Given the description of an element on the screen output the (x, y) to click on. 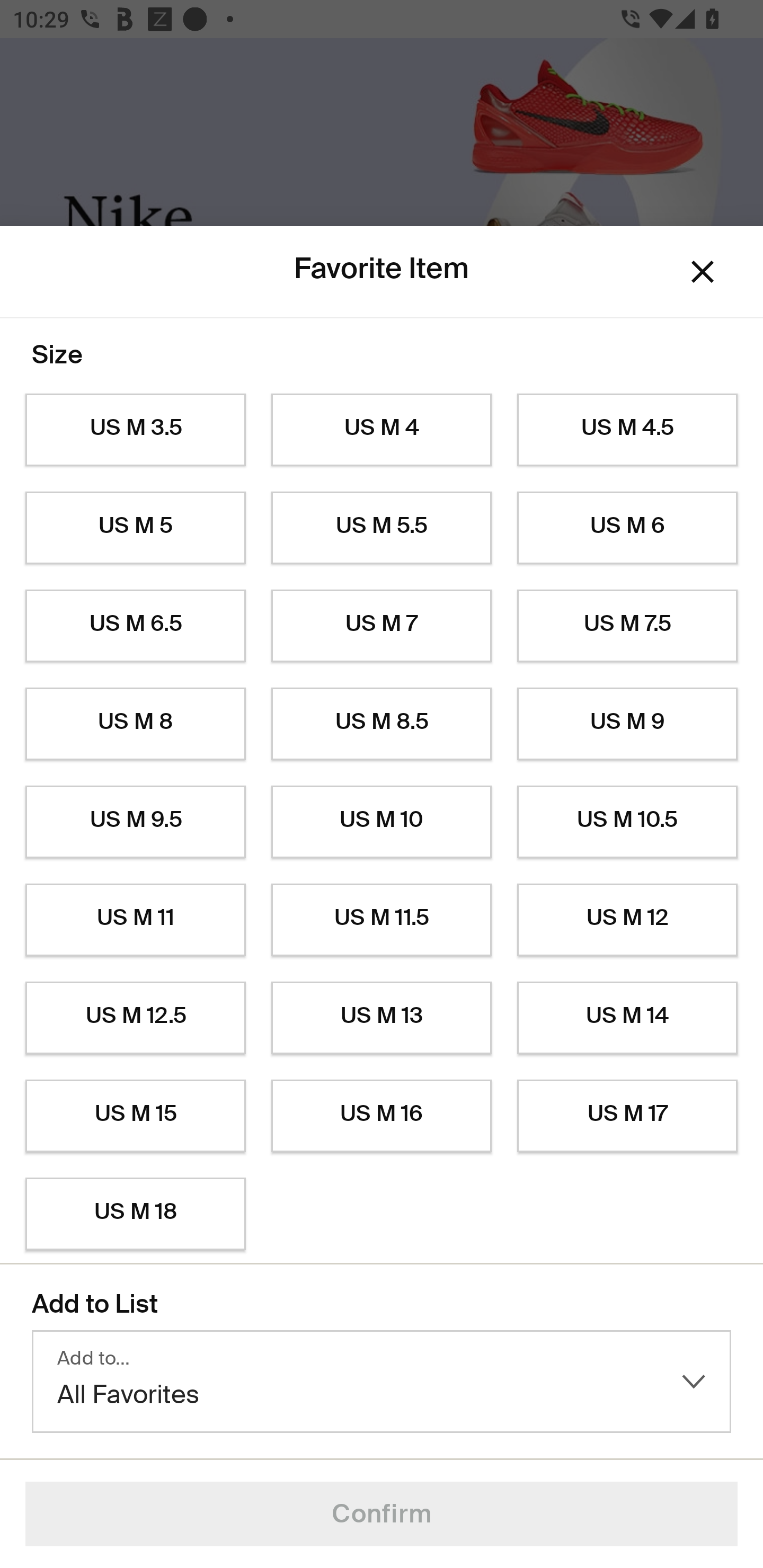
Dismiss (702, 271)
US M 3.5 (135, 430)
US M 4 (381, 430)
US M 4.5 (627, 430)
US M 5 (135, 527)
US M 5.5 (381, 527)
US M 6 (627, 527)
US M 6.5 (135, 626)
US M 7 (381, 626)
US M 7.5 (627, 626)
US M 8 (135, 724)
US M 8.5 (381, 724)
US M 9 (627, 724)
US M 9.5 (135, 822)
US M 10 (381, 822)
US M 10.5 (627, 822)
US M 11 (135, 919)
US M 11.5 (381, 919)
US M 12 (627, 919)
US M 12.5 (135, 1018)
US M 13 (381, 1018)
US M 14 (627, 1018)
US M 15 (135, 1116)
US M 16 (381, 1116)
US M 17 (627, 1116)
US M 18 (135, 1214)
Add to… All Favorites (381, 1381)
Confirm (381, 1513)
